Given the description of an element on the screen output the (x, y) to click on. 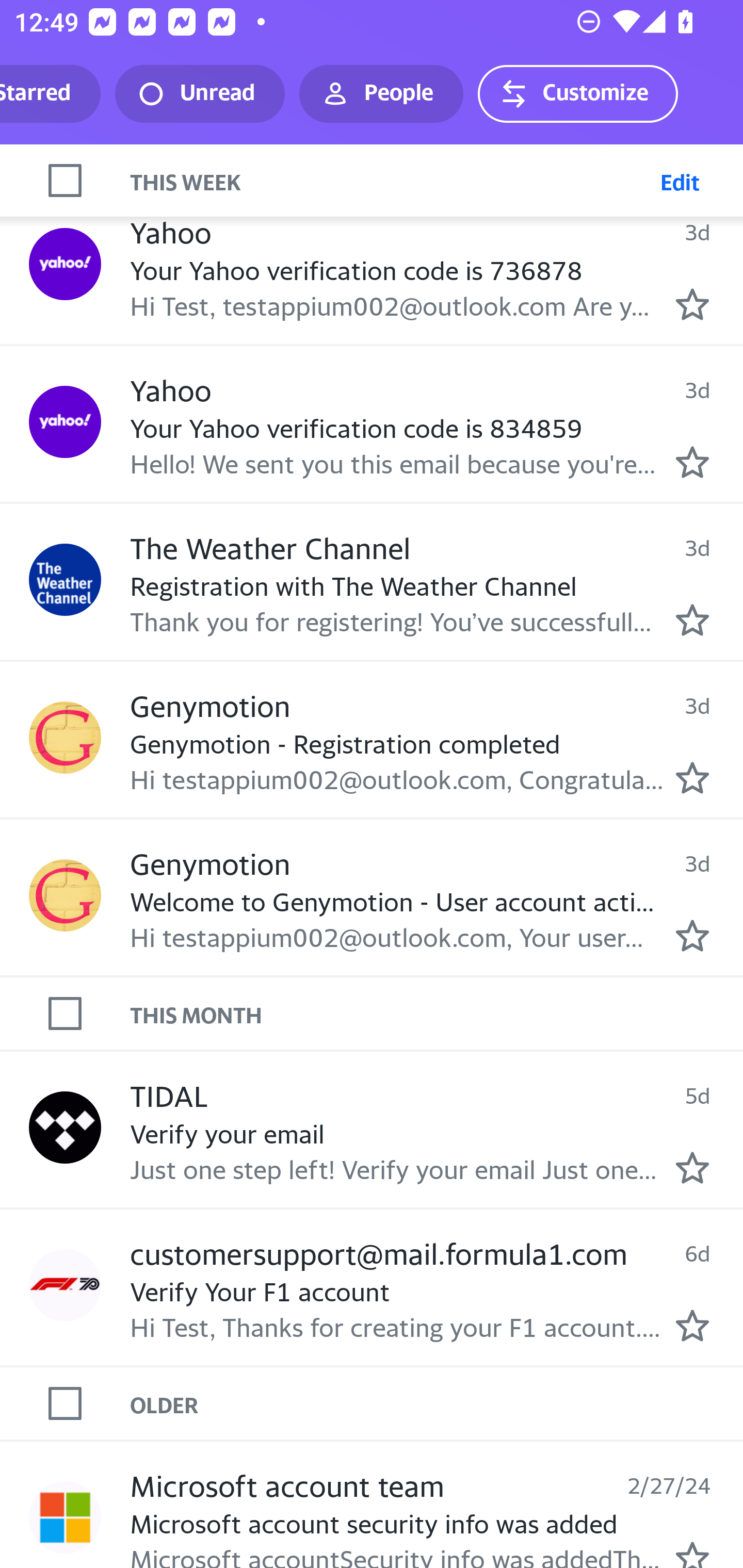
Unread (199, 93)
People (381, 93)
Customize (577, 93)
Profile
Yahoo (64, 263)
Mark as starred. (692, 304)
Profile
Yahoo (64, 421)
Mark as starred. (692, 461)
Profile
The Weather Channel (64, 580)
Mark as starred. (692, 620)
Profile
Genymotion (64, 736)
Mark as starred. (692, 778)
Profile
Genymotion (64, 895)
Mark as starred. (692, 935)
THIS MONTH (436, 1013)
Profile
TIDAL (64, 1127)
Mark as starred. (692, 1167)
Profile
customersupport@mail.formula1.com (64, 1285)
Mark as starred. (692, 1325)
OLDER (436, 1403)
Profile
Microsoft account team (64, 1517)
Mark as starred. (692, 1553)
